Given the description of an element on the screen output the (x, y) to click on. 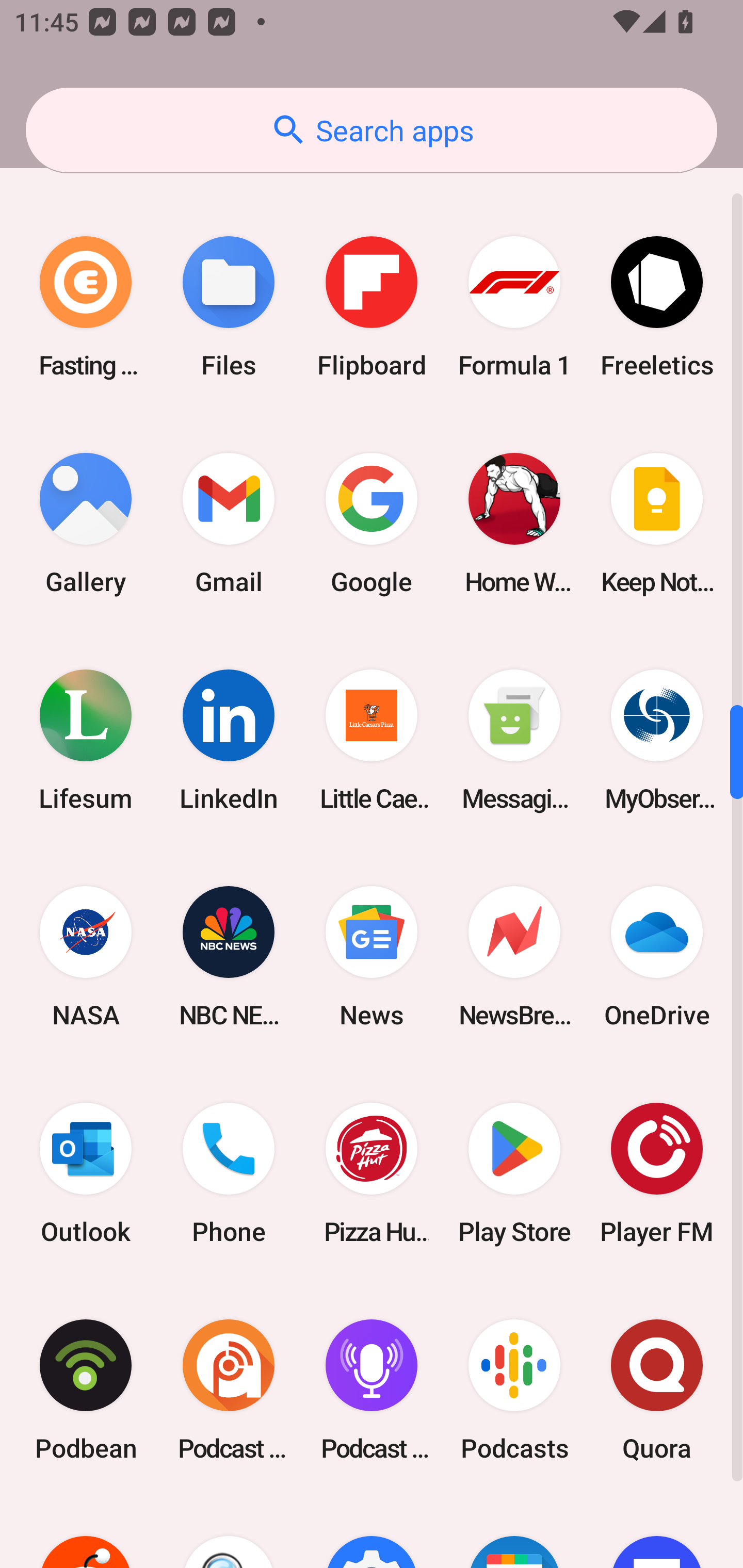
  Search apps (371, 130)
Fasting Coach (85, 307)
Files (228, 307)
Flipboard (371, 307)
Formula 1 (514, 307)
Freeletics (656, 307)
Gallery (85, 523)
Gmail (228, 523)
Google (371, 523)
Home Workout (514, 523)
Keep Notes (656, 523)
Lifesum (85, 739)
LinkedIn (228, 739)
Little Caesars Pizza (371, 739)
Messaging (514, 739)
MyObservatory (656, 739)
NASA (85, 956)
NBC NEWS (228, 956)
News (371, 956)
NewsBreak (514, 956)
OneDrive (656, 956)
Outlook (85, 1172)
Phone (228, 1172)
Pizza Hut HK & Macau (371, 1172)
Play Store (514, 1172)
Player FM (656, 1172)
Podbean (85, 1390)
Podcast Addict (228, 1390)
Podcast Player (371, 1390)
Podcasts (514, 1390)
Quora (656, 1390)
